Given the description of an element on the screen output the (x, y) to click on. 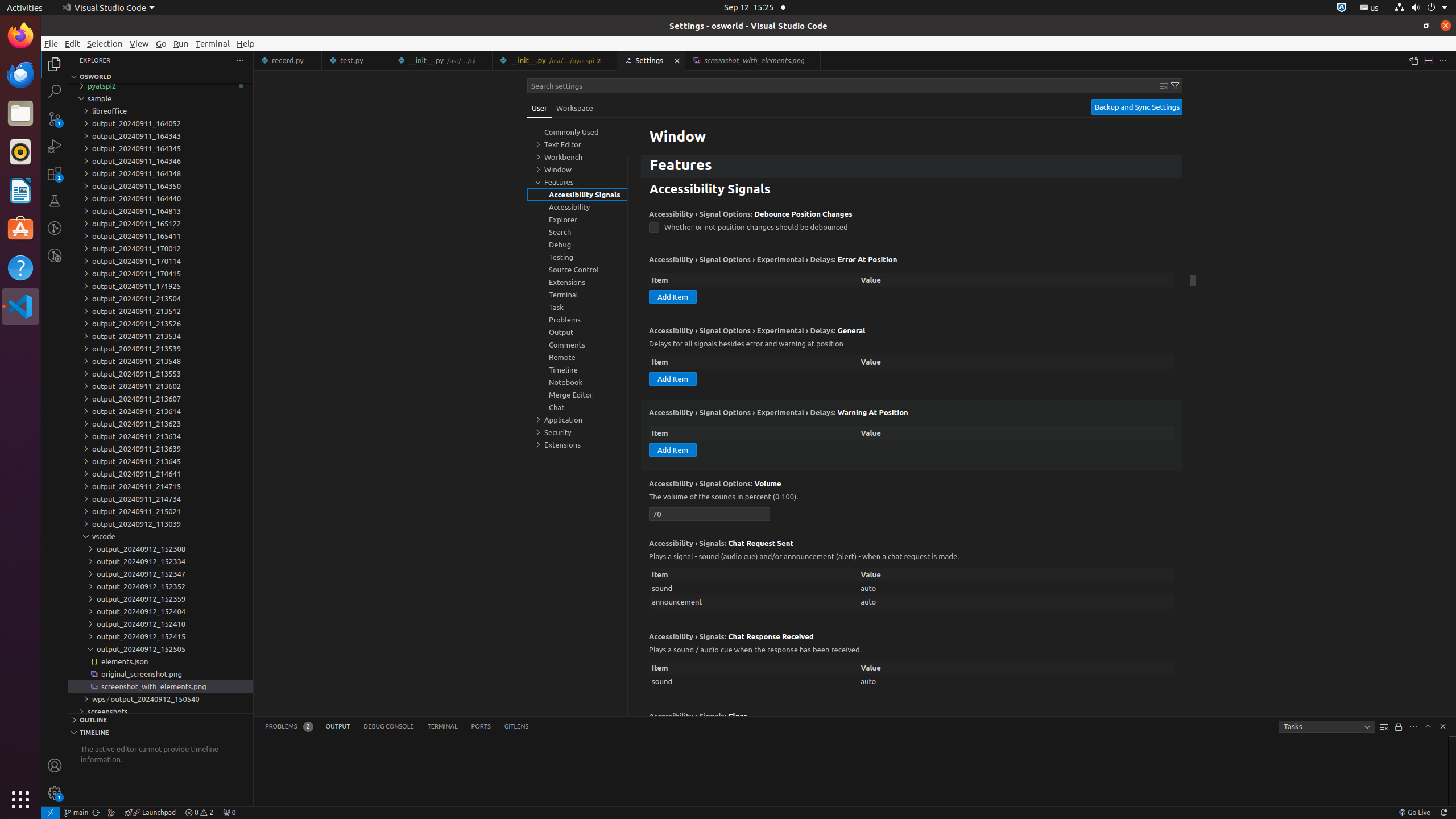
OSWorld (Git) - main, Checkout Branch/Tag... Element type: push-button (75, 812)
The property `announcement` is set to `auto`. Element type: list-item (911, 601)
User Element type: check-box (539, 107)
More Actions... (Shift+F9) Element type: push-button (634, 714)
No Ports Forwarded Element type: push-button (228, 812)
